Given the description of an element on the screen output the (x, y) to click on. 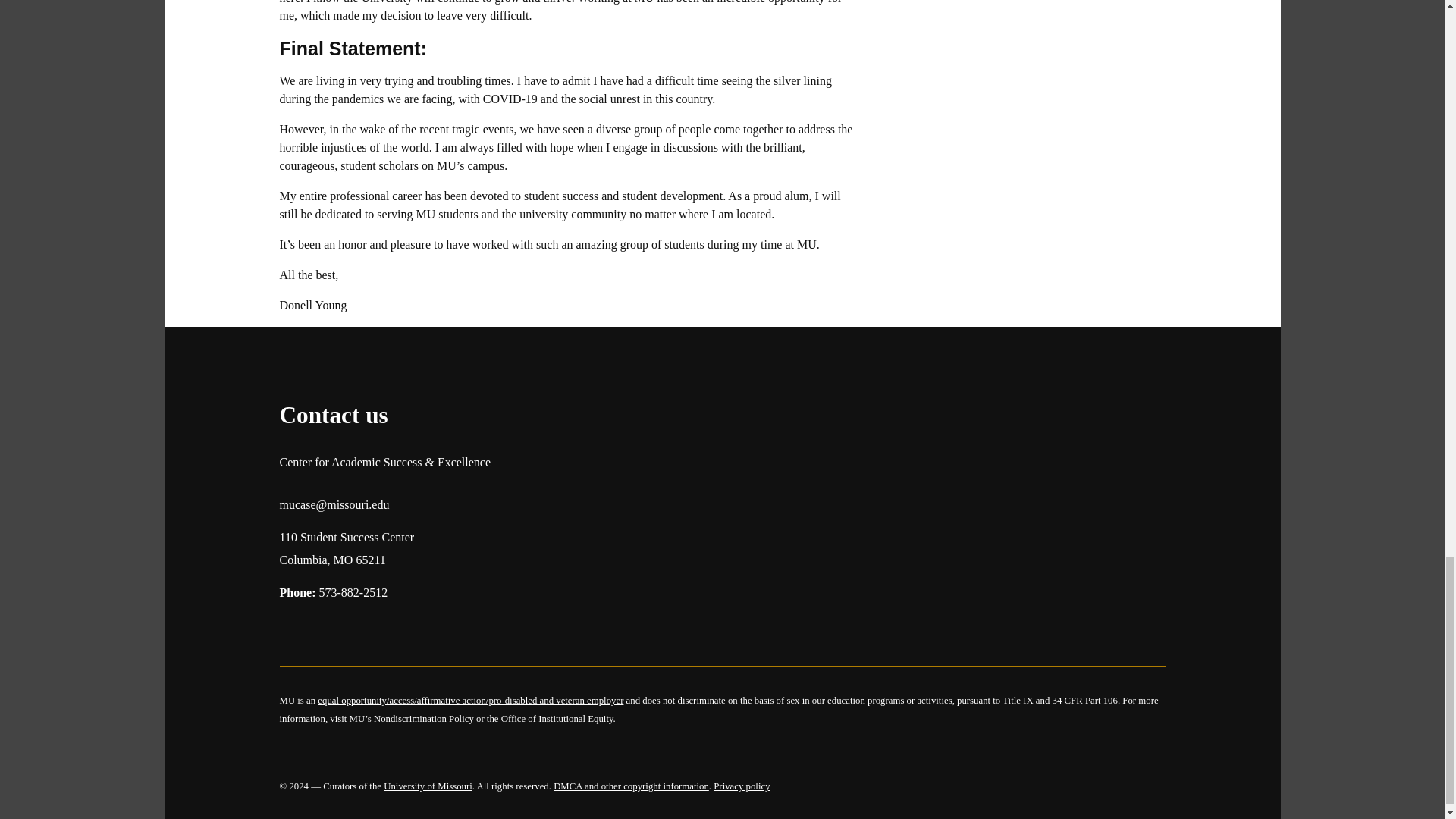
X (371, 627)
Instagram (332, 627)
Privacy policy (741, 786)
Youtube (411, 627)
University of Missouri (427, 786)
Facebook (292, 627)
DMCA and other copyright information (631, 786)
Facebook (292, 627)
X (371, 627)
University of Missouri (397, 366)
MU Logo (291, 365)
Instagram (332, 627)
Office of Institutional Equity (556, 718)
Youtube (411, 627)
